Given the description of an element on the screen output the (x, y) to click on. 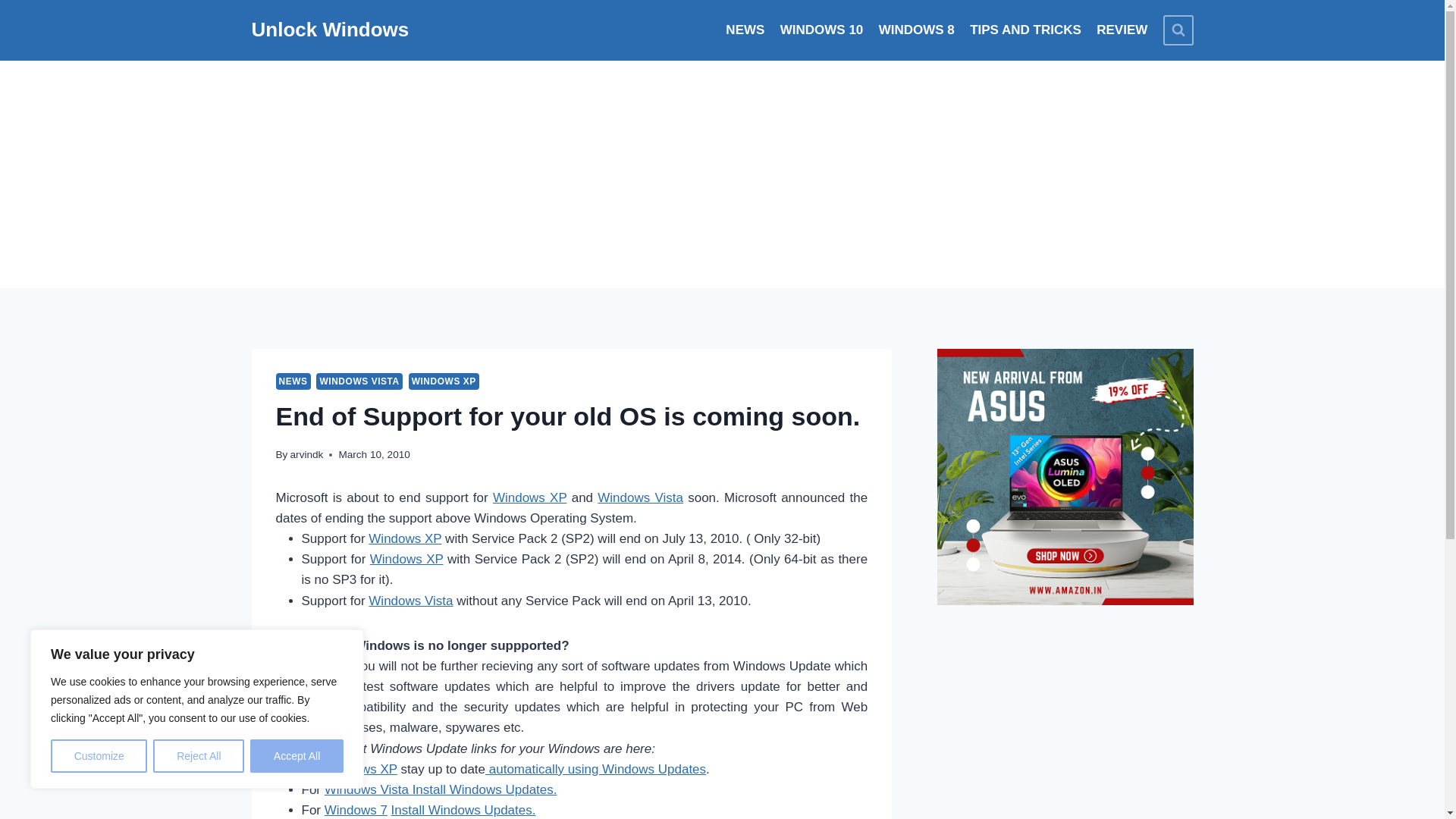
WINDOWS 10 (821, 30)
Install Windows Updates. (463, 810)
Windows XP (406, 559)
Accept All (296, 756)
Windows XP (530, 497)
WINDOWS 8 (915, 30)
NEWS (293, 381)
Windows XP (404, 538)
arvindk (306, 454)
REVIEW (1121, 30)
Windows Vista Install Windows Updates. (440, 789)
Windows 7 (355, 810)
Windows Vista (410, 599)
WINDOWS VISTA (358, 381)
